Given the description of an element on the screen output the (x, y) to click on. 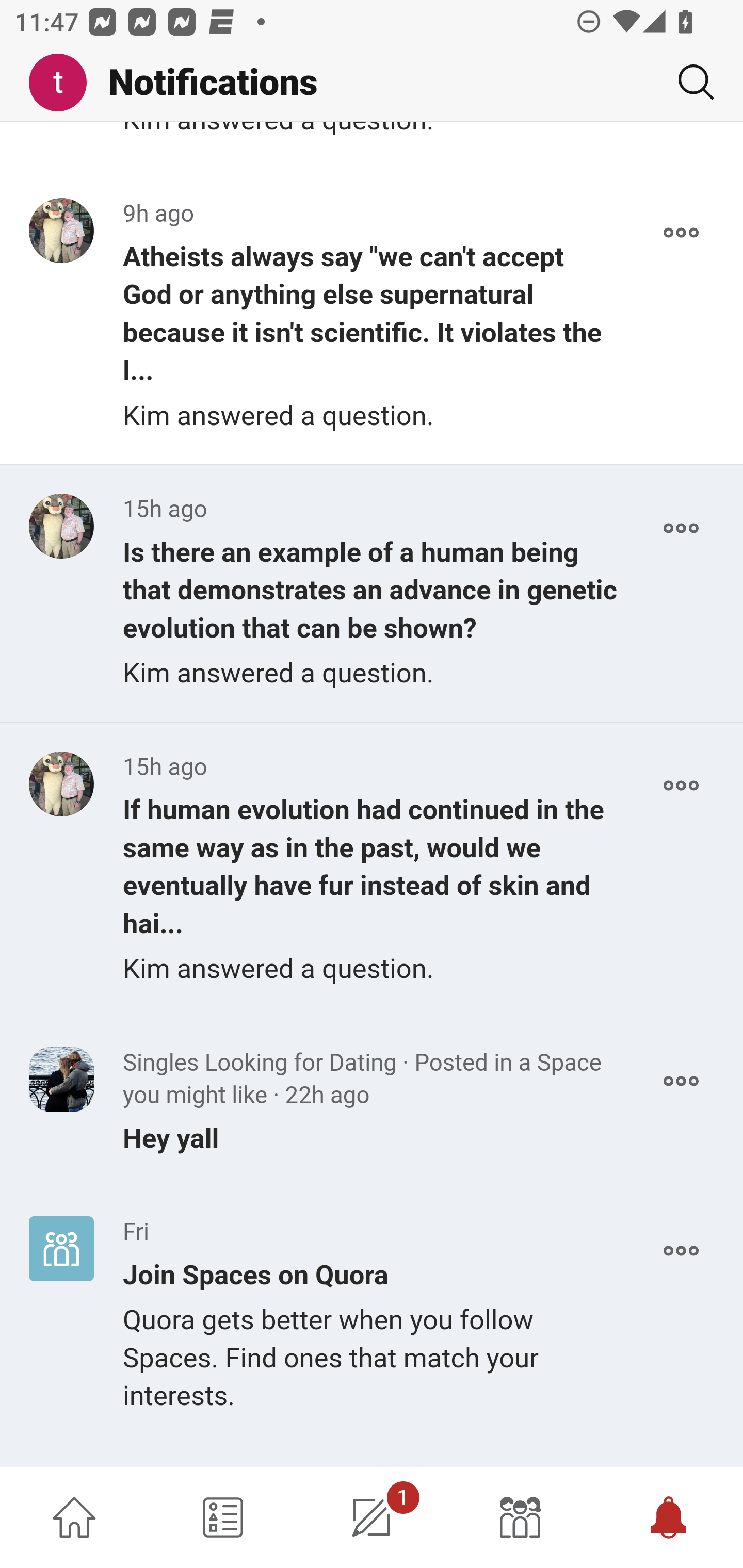
Me (64, 83)
Search (688, 82)
More (681, 232)
More (681, 528)
More (681, 785)
More (681, 1080)
More (681, 1250)
1 (371, 1517)
